Given the description of an element on the screen output the (x, y) to click on. 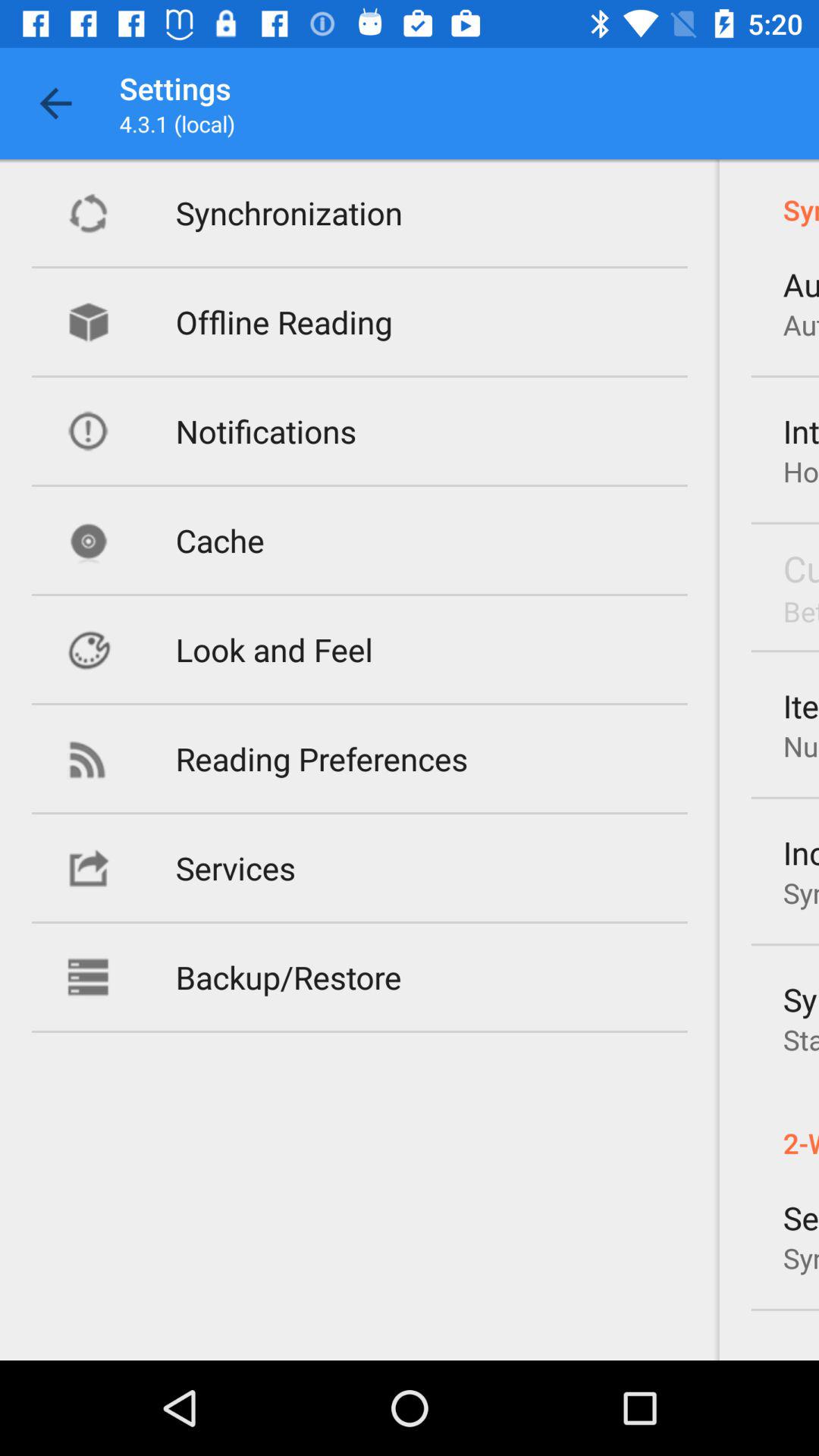
launch the item to the right of offline reading item (801, 324)
